Given the description of an element on the screen output the (x, y) to click on. 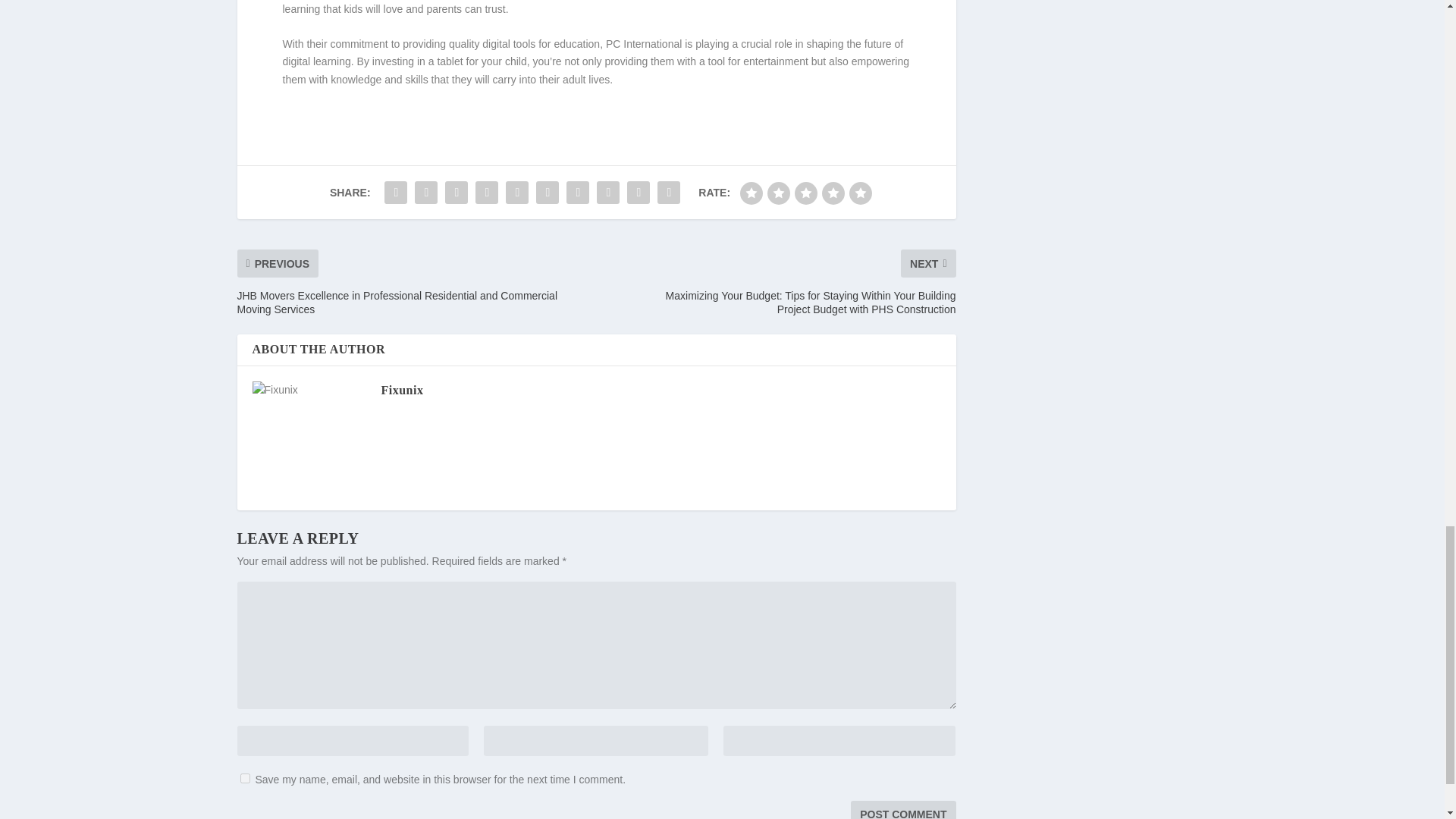
yes (244, 777)
Post Comment (902, 809)
